Given the description of an element on the screen output the (x, y) to click on. 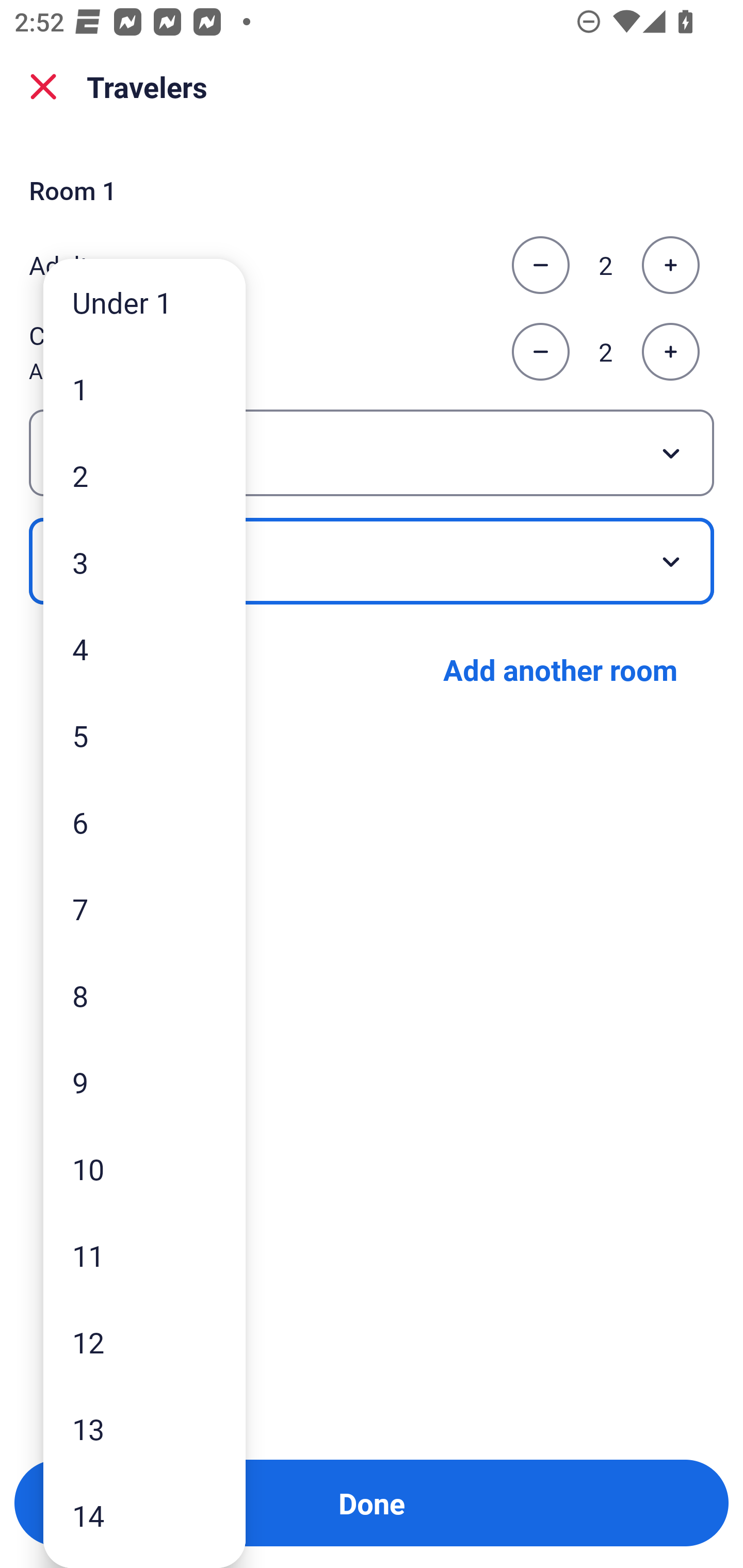
Under 1 (144, 301)
1 (144, 388)
2 (144, 475)
3 (144, 562)
4 (144, 648)
5 (144, 735)
6 (144, 822)
7 (144, 908)
8 (144, 994)
9 (144, 1081)
10 (144, 1168)
11 (144, 1255)
12 (144, 1342)
13 (144, 1429)
14 (144, 1515)
